Given the description of an element on the screen output the (x, y) to click on. 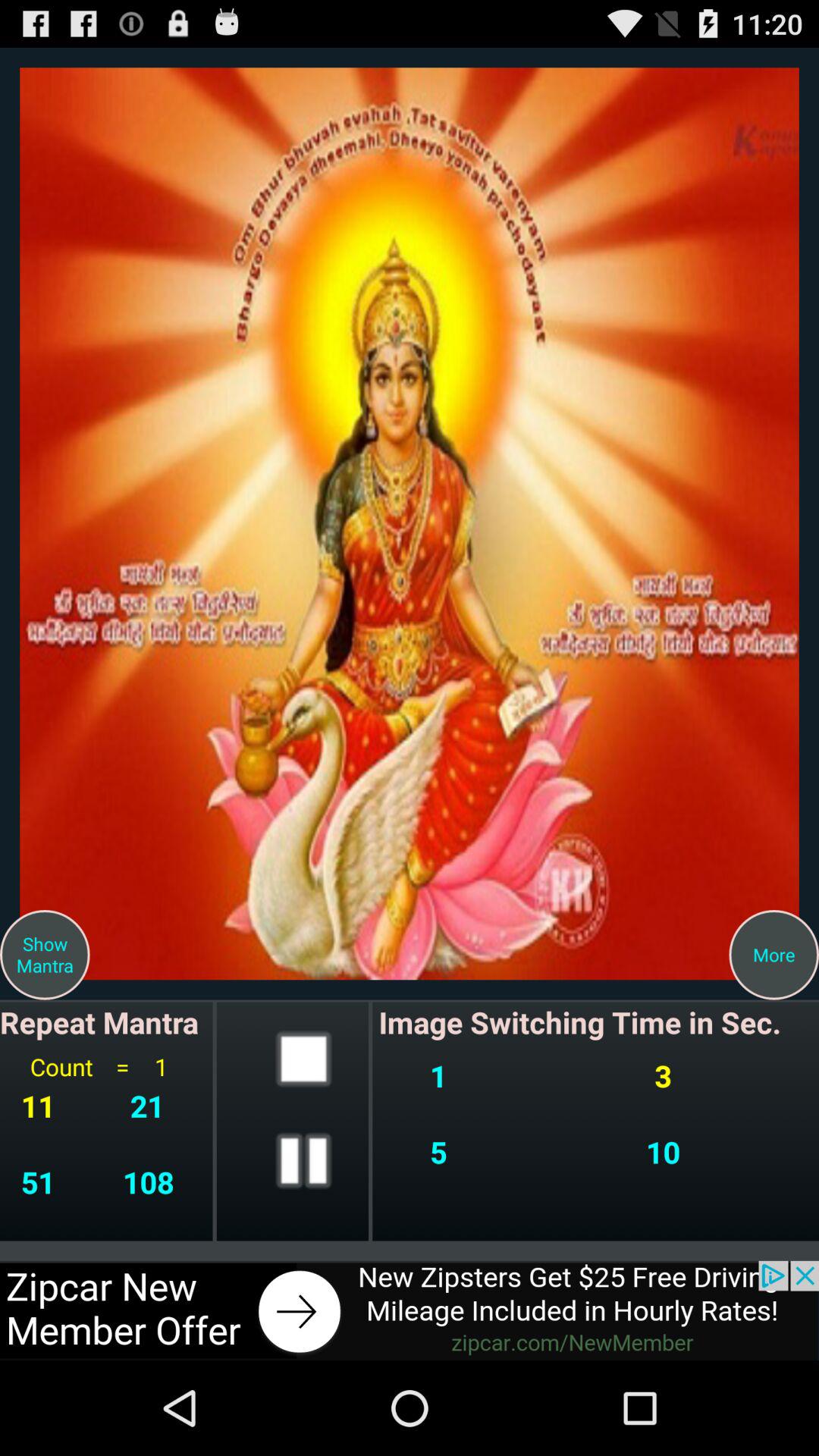
go to music plau (303, 1160)
